Given the description of an element on the screen output the (x, y) to click on. 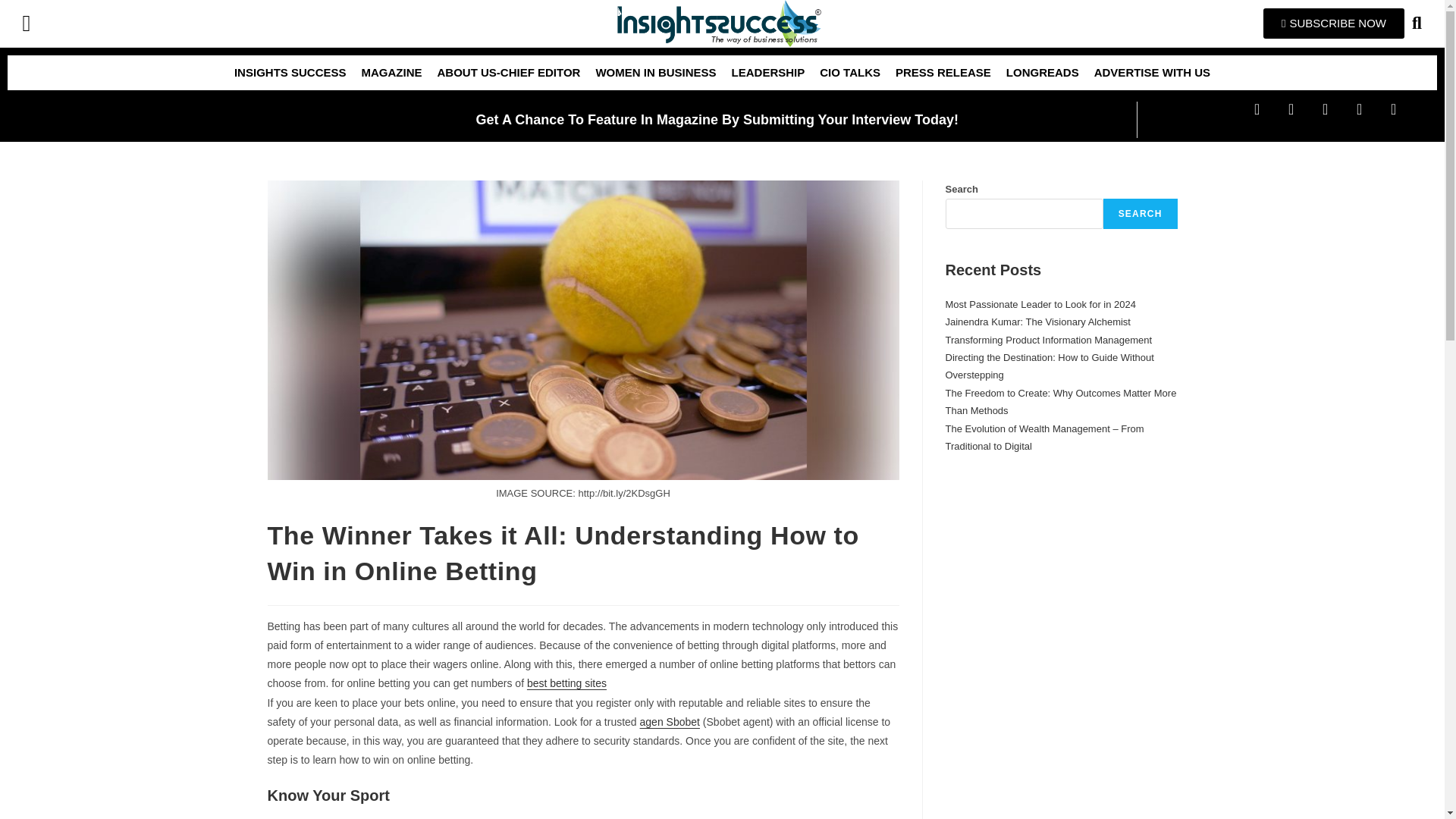
WOMEN IN BUSINESS (655, 72)
agen Sbobet (670, 721)
INSIGHTS SUCCESS (290, 72)
The Freedom to Create: Why Outcomes Matter More Than Methods (1060, 401)
Most Passionate Leader to Look for in 2024 (1039, 304)
PRESS RELEASE (943, 72)
ADVERTISE WITH US (1151, 72)
LONGREADS (1042, 72)
